Given the description of an element on the screen output the (x, y) to click on. 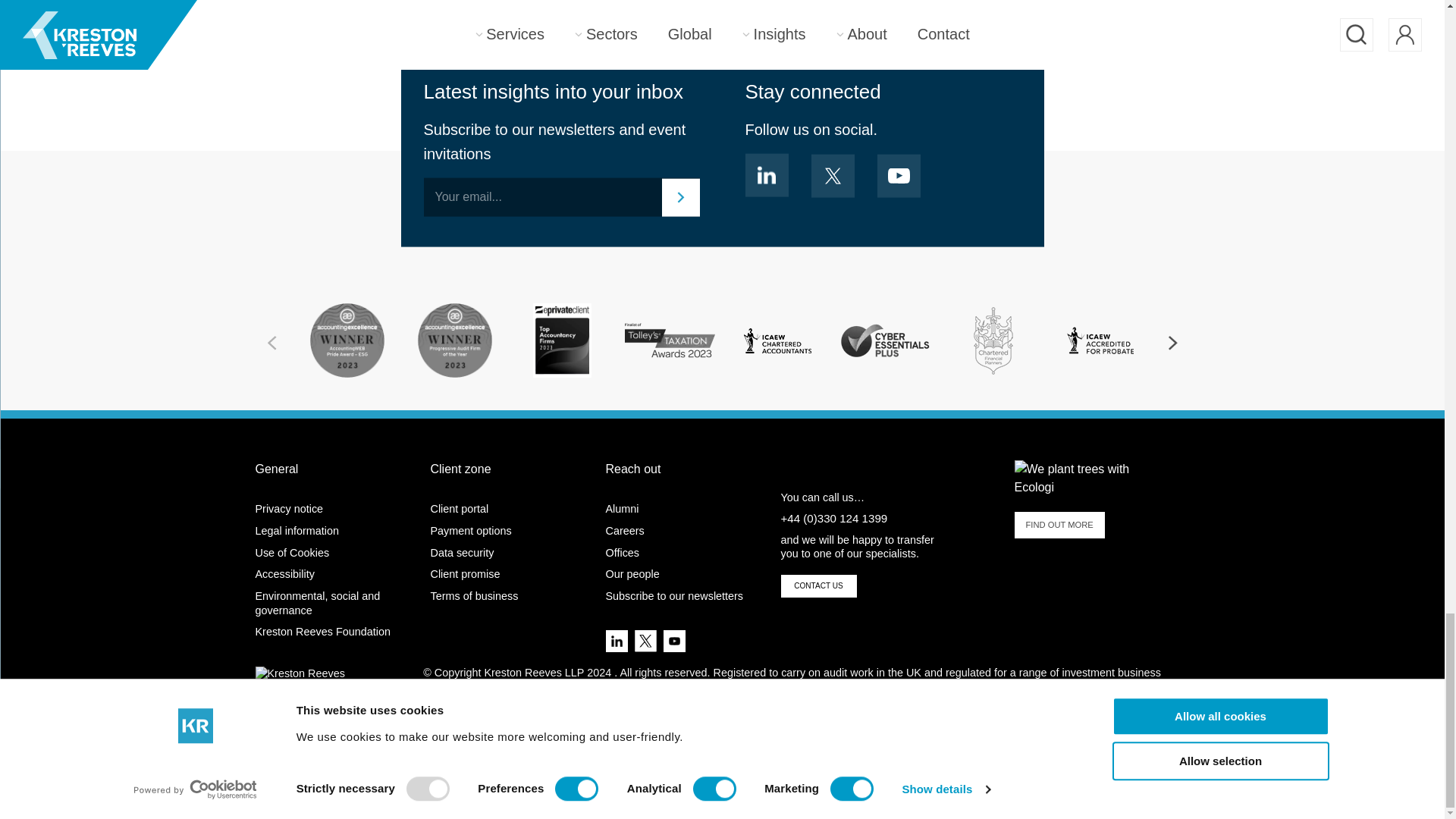
View our Ecologi profile (1092, 478)
